Given the description of an element on the screen output the (x, y) to click on. 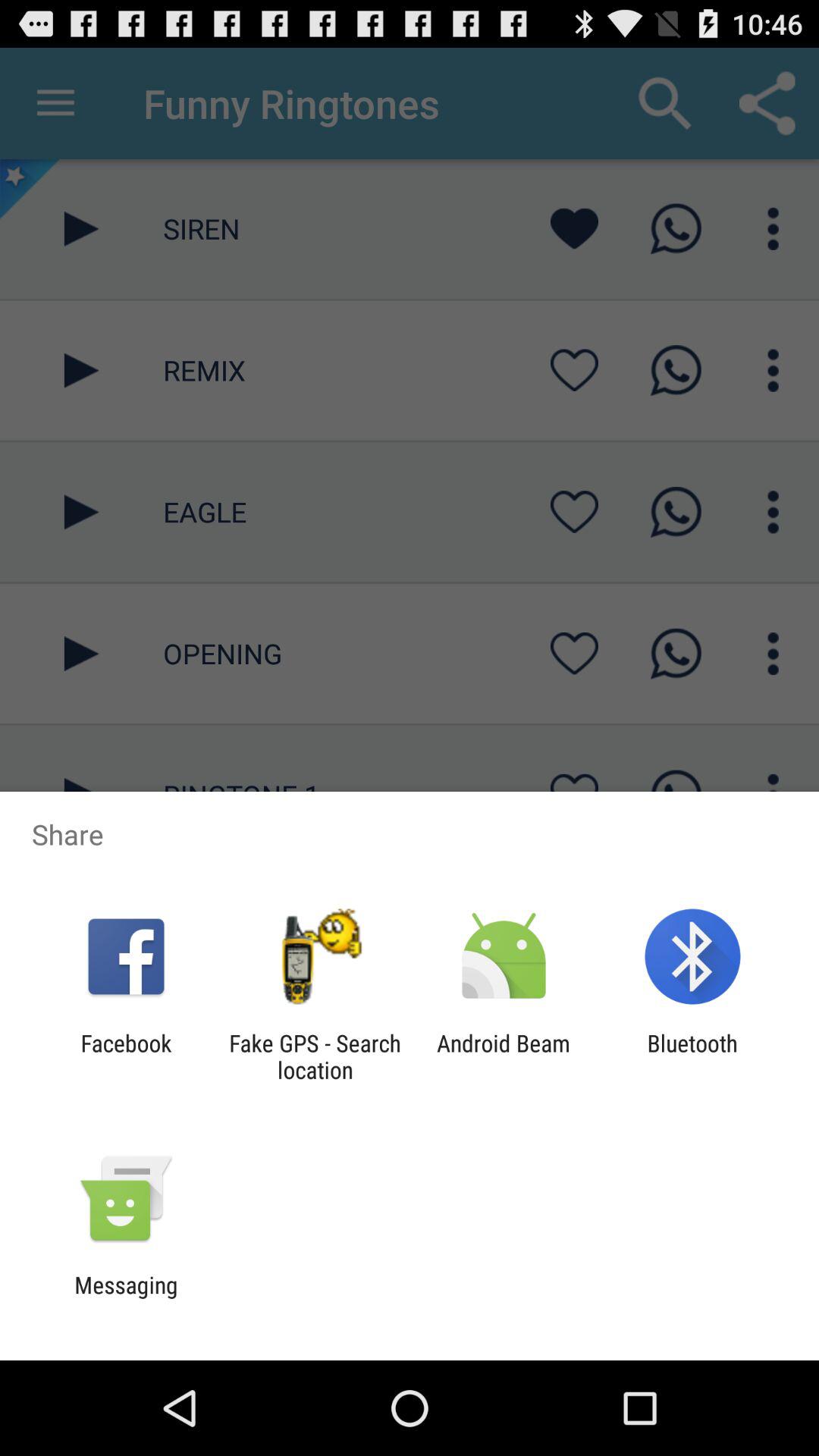
flip to fake gps search item (314, 1056)
